Given the description of an element on the screen output the (x, y) to click on. 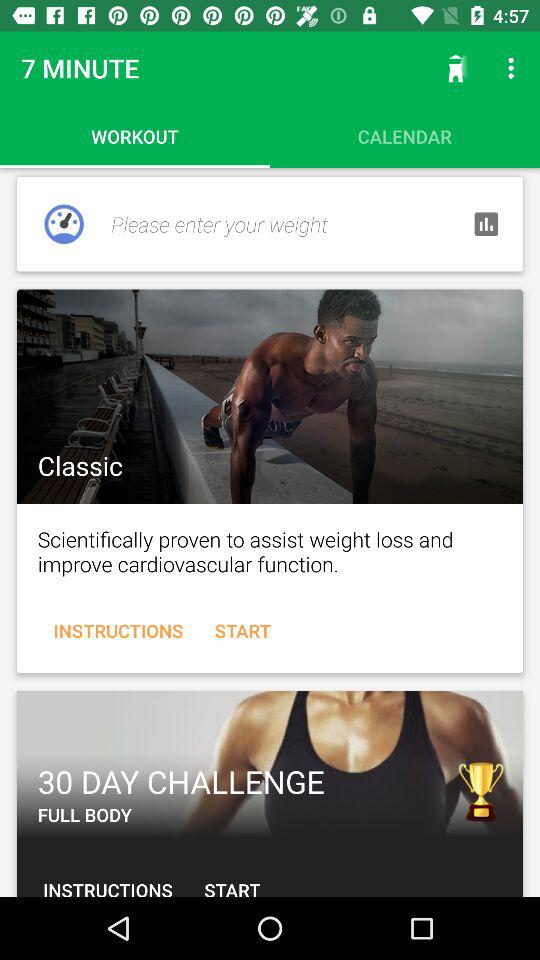
are selected (269, 396)
